Given the description of an element on the screen output the (x, y) to click on. 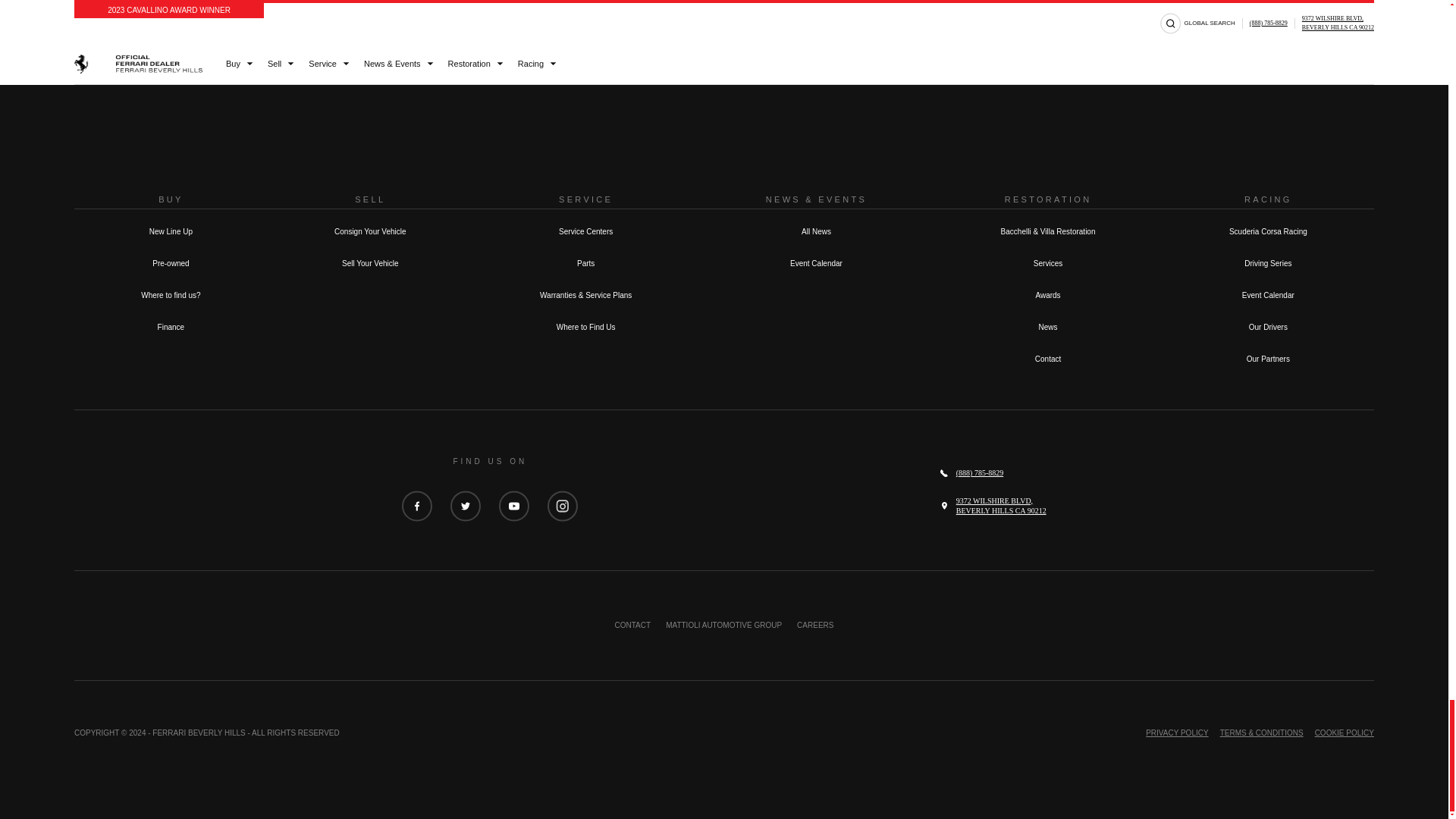
terms and conditions (967, 12)
on (766, 13)
